Given the description of an element on the screen output the (x, y) to click on. 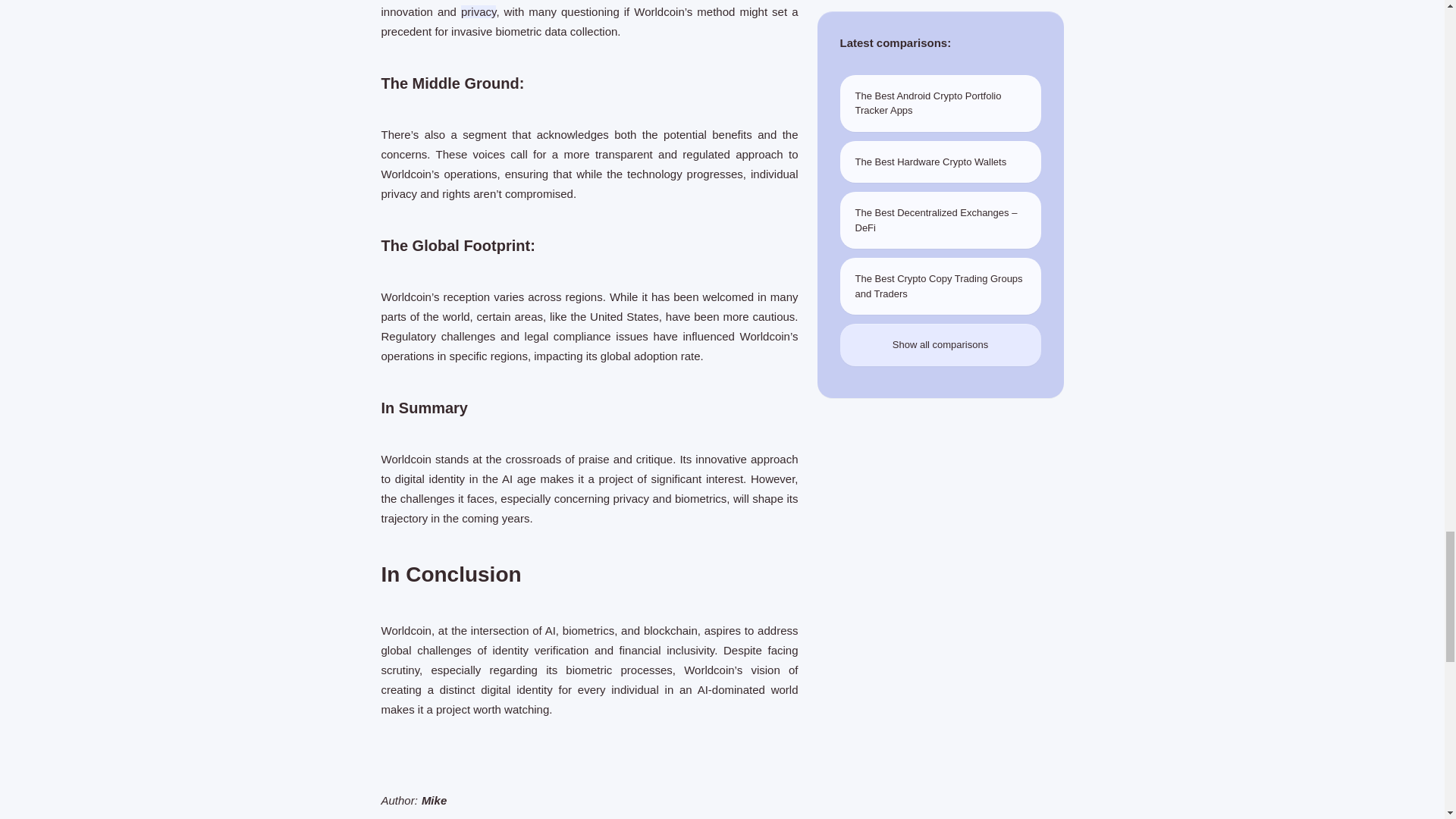
privacy (478, 11)
